Given the description of an element on the screen output the (x, y) to click on. 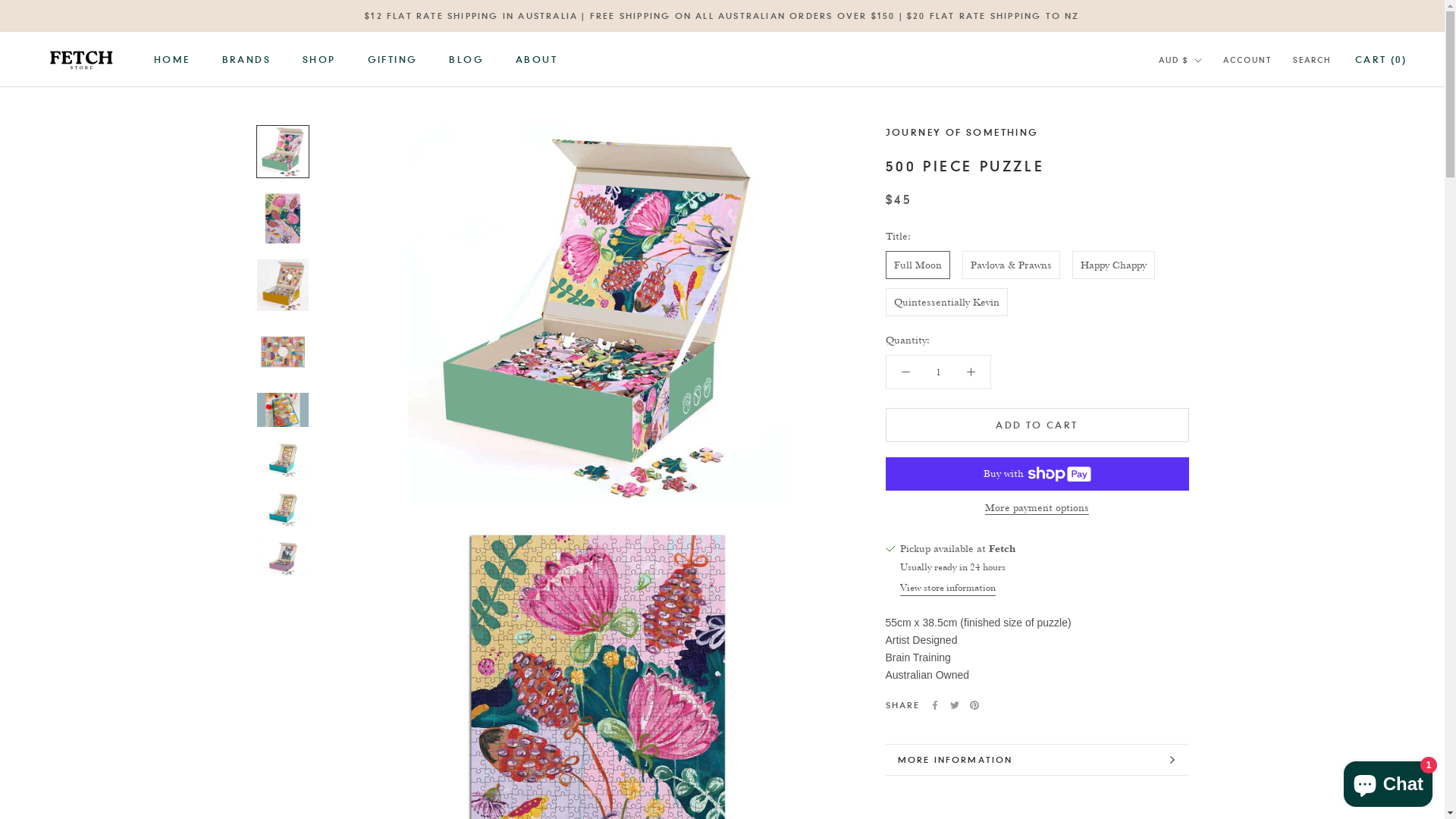
HOME
HOME Element type: text (171, 59)
GIFTING Element type: text (392, 59)
ADD TO CART Element type: text (1037, 424)
MORE INFORMATION Element type: text (1037, 759)
JOURNEY OF SOMETHING Element type: text (961, 132)
Shopify online store chat Element type: hover (1388, 780)
More payment options Element type: text (1036, 507)
ABOUT
ABOUT Element type: text (536, 59)
View store information Element type: text (946, 587)
BRANDS Element type: text (246, 59)
SEARCH Element type: text (1311, 60)
ACCOUNT Element type: text (1247, 60)
SHOP Element type: text (318, 59)
BLOG
BLOG Element type: text (465, 59)
NZD Element type: text (1197, 112)
AUD $ Element type: text (1179, 61)
AUD Element type: text (1197, 91)
CART (0) Element type: text (1380, 59)
